Given the description of an element on the screen output the (x, y) to click on. 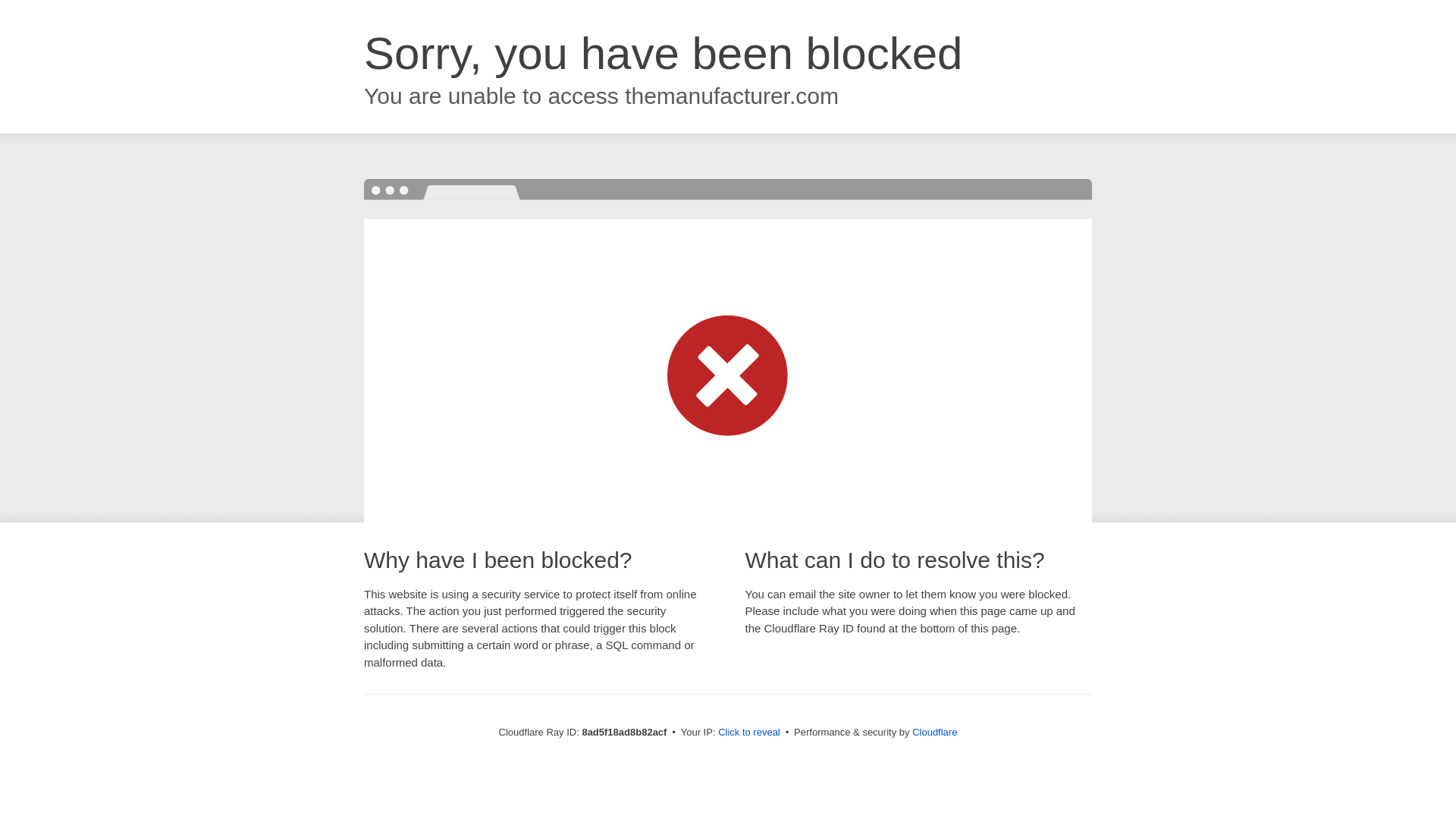
Click to reveal (748, 732)
Cloudflare (934, 731)
